Given the description of an element on the screen output the (x, y) to click on. 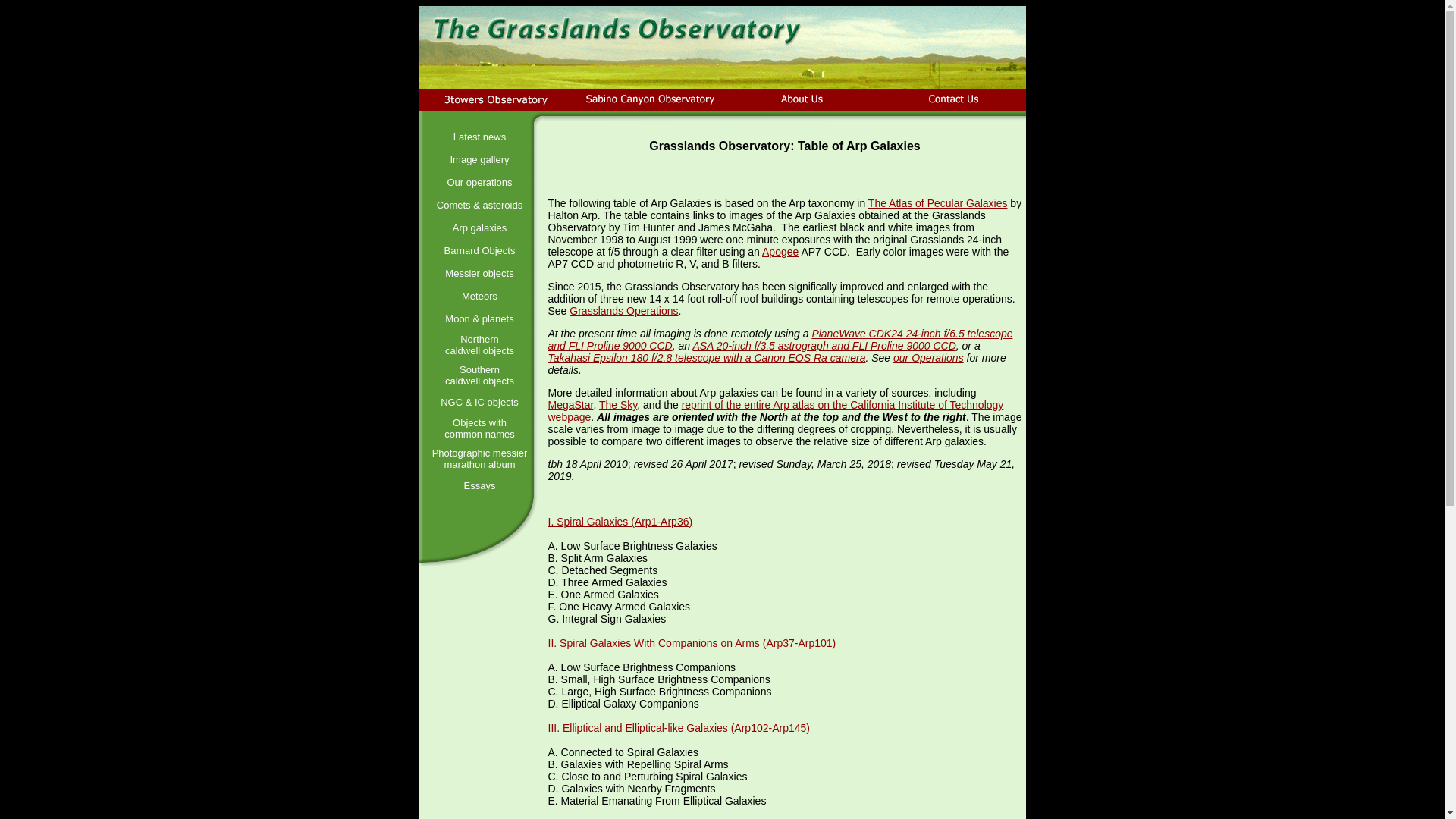
Image gallery Element type: text (478, 158)
Messier objects Element type: text (479, 272)
Our operations Element type: text (479, 181)
II. Spiral Galaxies With Companions on Arms (Arp37-Arp101) Element type: text (691, 643)
Latest news Element type: text (479, 135)
Apogee Element type: text (780, 251)
Essays Element type: text (479, 484)
Photographic messier marathon album Element type: text (479, 458)
MegaStar Element type: text (570, 404)
III. Elliptical and Elliptical-like Galaxies (Arp102-Arp145) Element type: text (678, 727)
Northern
caldwell objects Element type: text (479, 344)
The Atlas of Pecular Galaxies Element type: text (937, 203)
Barnard Objects Element type: text (479, 249)
Objects with
common names Element type: text (479, 428)
I. Spiral Galaxies (Arp1-Arp36) Element type: text (619, 521)
Meteors Element type: text (479, 295)
our Operations Element type: text (928, 357)
Arp galaxies Element type: text (479, 226)
Comets & asteroids Element type: text (479, 204)
The Sky Element type: text (618, 404)
Southern
caldwell objects Element type: text (479, 375)
ASA 20-inch f/3.5 astrograph and FLI Proline 9000 CCD Element type: text (823, 345)
NGC & IC objects Element type: text (479, 401)
Moon & planets Element type: text (479, 317)
Grasslands Operations Element type: text (623, 310)
